Given the description of an element on the screen output the (x, y) to click on. 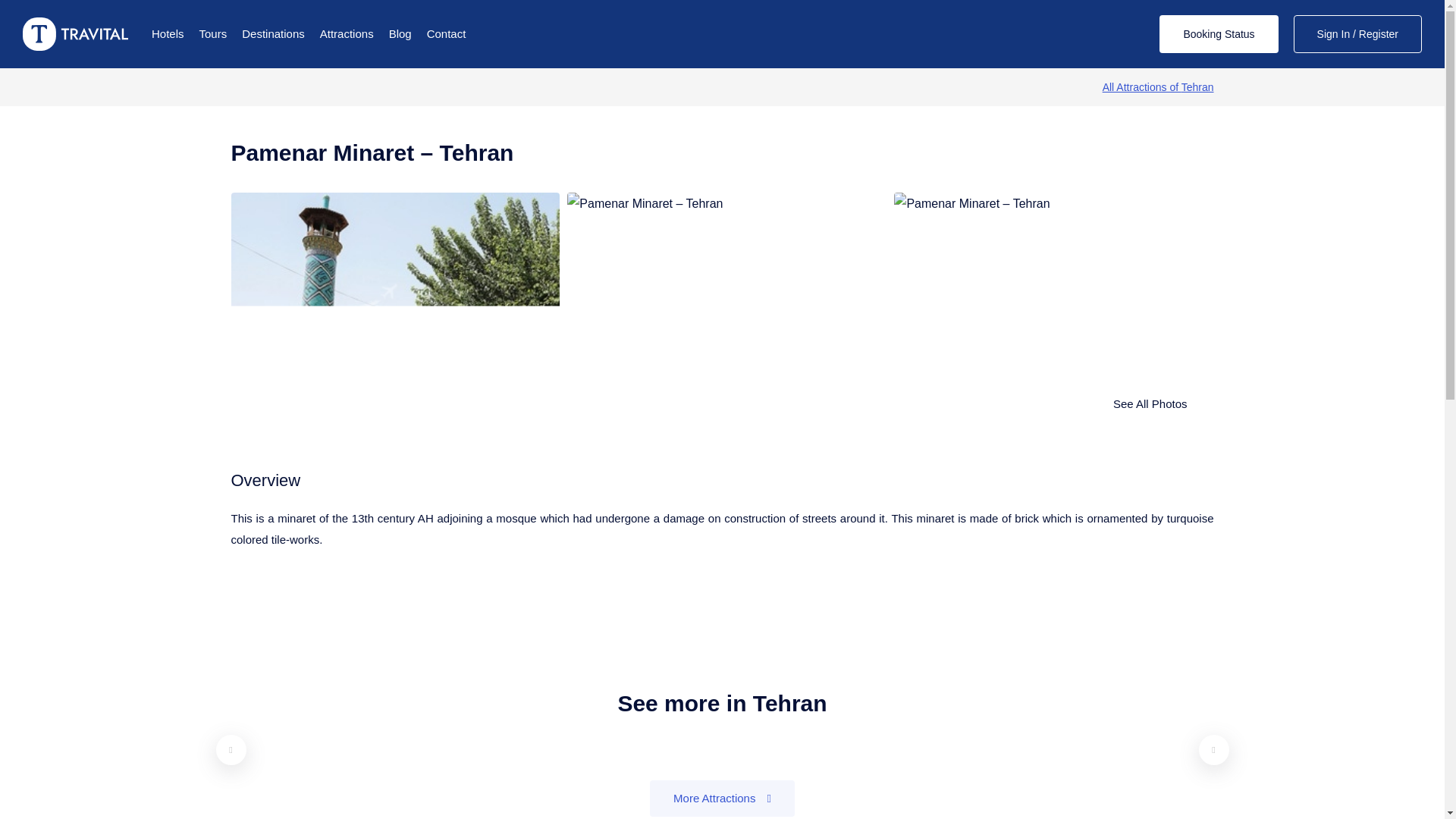
Hotels (168, 34)
Tours (213, 34)
All Attractions of Tehran (1158, 87)
Destinations (273, 34)
More Attractions (721, 798)
Blog (400, 34)
Attractions (347, 34)
Booking Status (1218, 34)
Contact (446, 34)
